Given the description of an element on the screen output the (x, y) to click on. 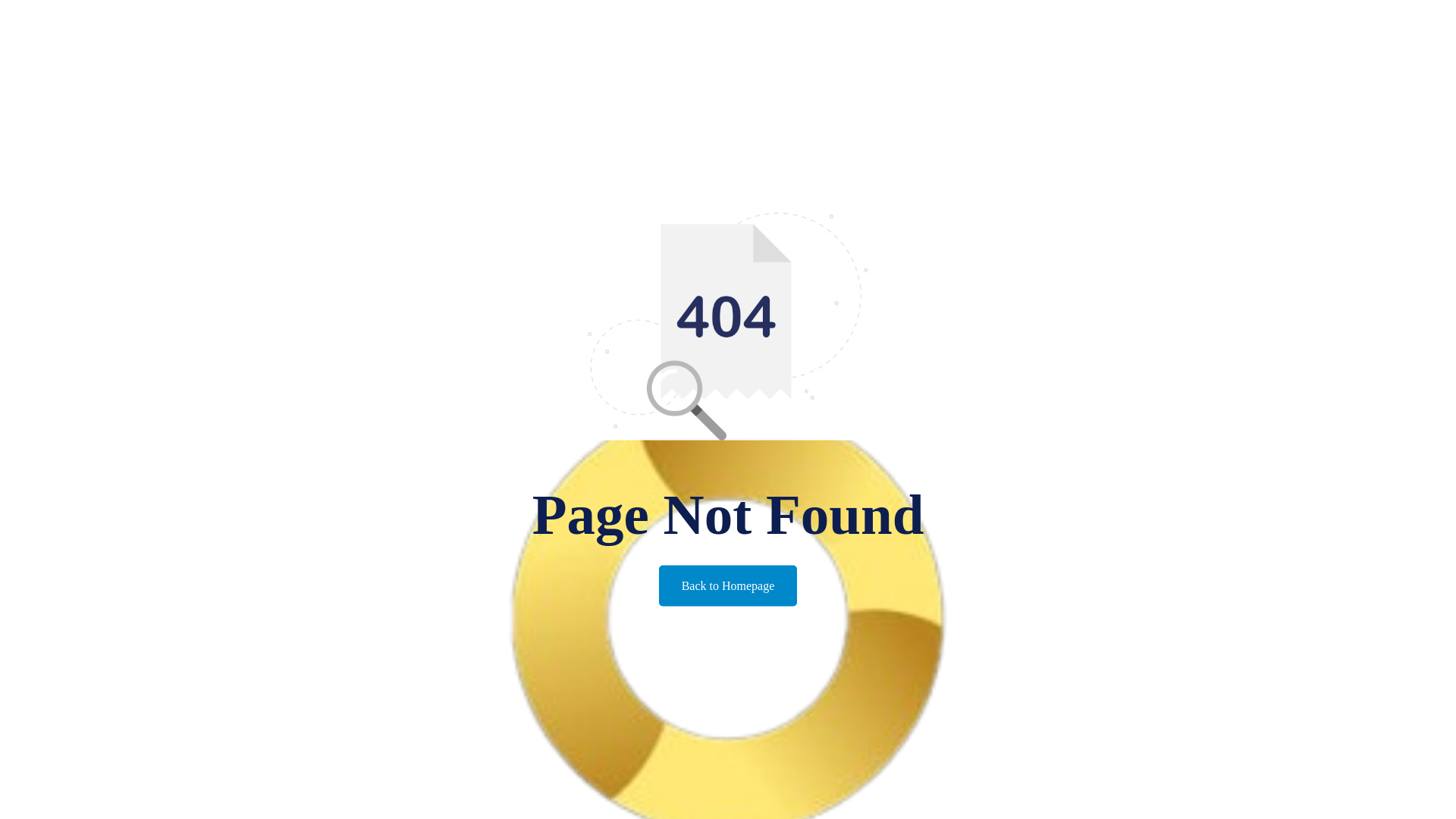
Back to Homepage (728, 585)
